Given the description of an element on the screen output the (x, y) to click on. 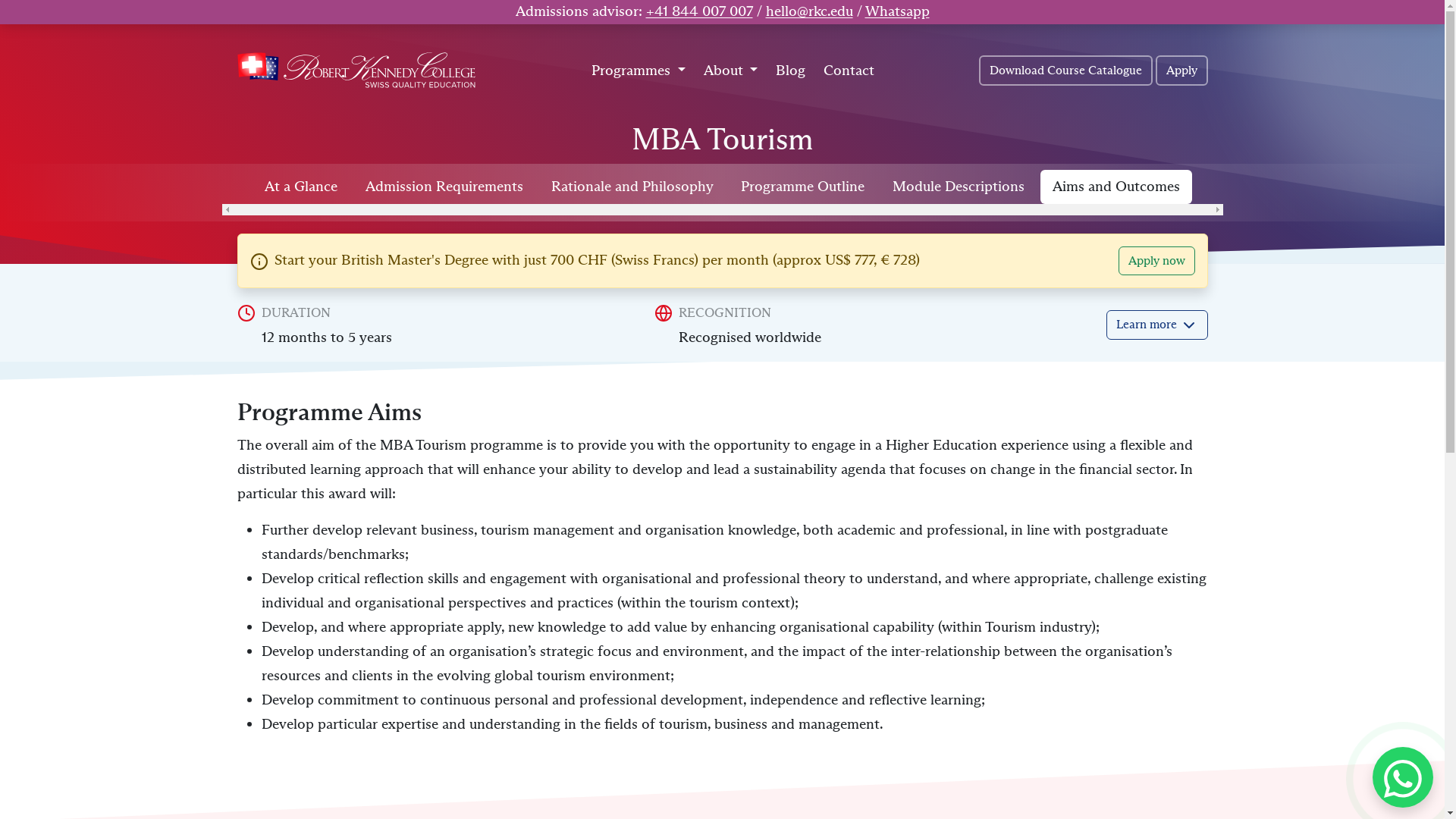
At a Glance Element type: text (300, 186)
Learn more Element type: text (1156, 324)
Rationale and Philosophy Element type: text (632, 186)
Contact Element type: text (848, 70)
Blog Element type: text (790, 70)
Aims and Outcomes Element type: text (1116, 186)
hello@rkc.edu Element type: text (809, 10)
Apply Element type: text (1181, 70)
Download Course Catalogue Element type: text (1064, 70)
Programme Outline Element type: text (802, 186)
Programmes Element type: text (638, 70)
Apply now Element type: text (1155, 260)
+41 844 007 007 Element type: text (699, 10)
Whatsapp Element type: text (896, 10)
Admission Requirements Element type: text (444, 186)
Module Descriptions Element type: text (958, 186)
About Element type: text (730, 70)
